Given the description of an element on the screen output the (x, y) to click on. 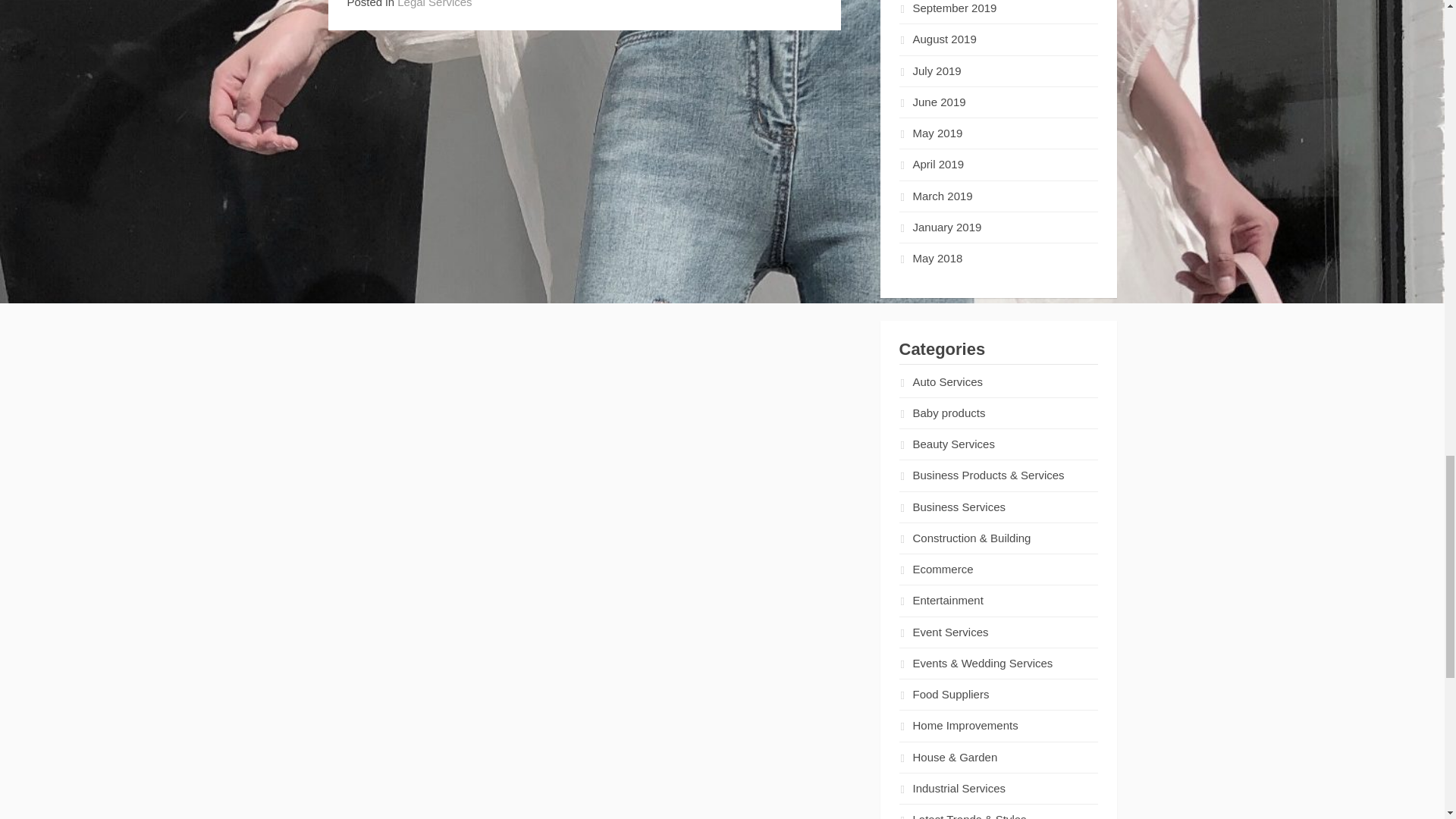
Legal Services (434, 4)
